Given the description of an element on the screen output the (x, y) to click on. 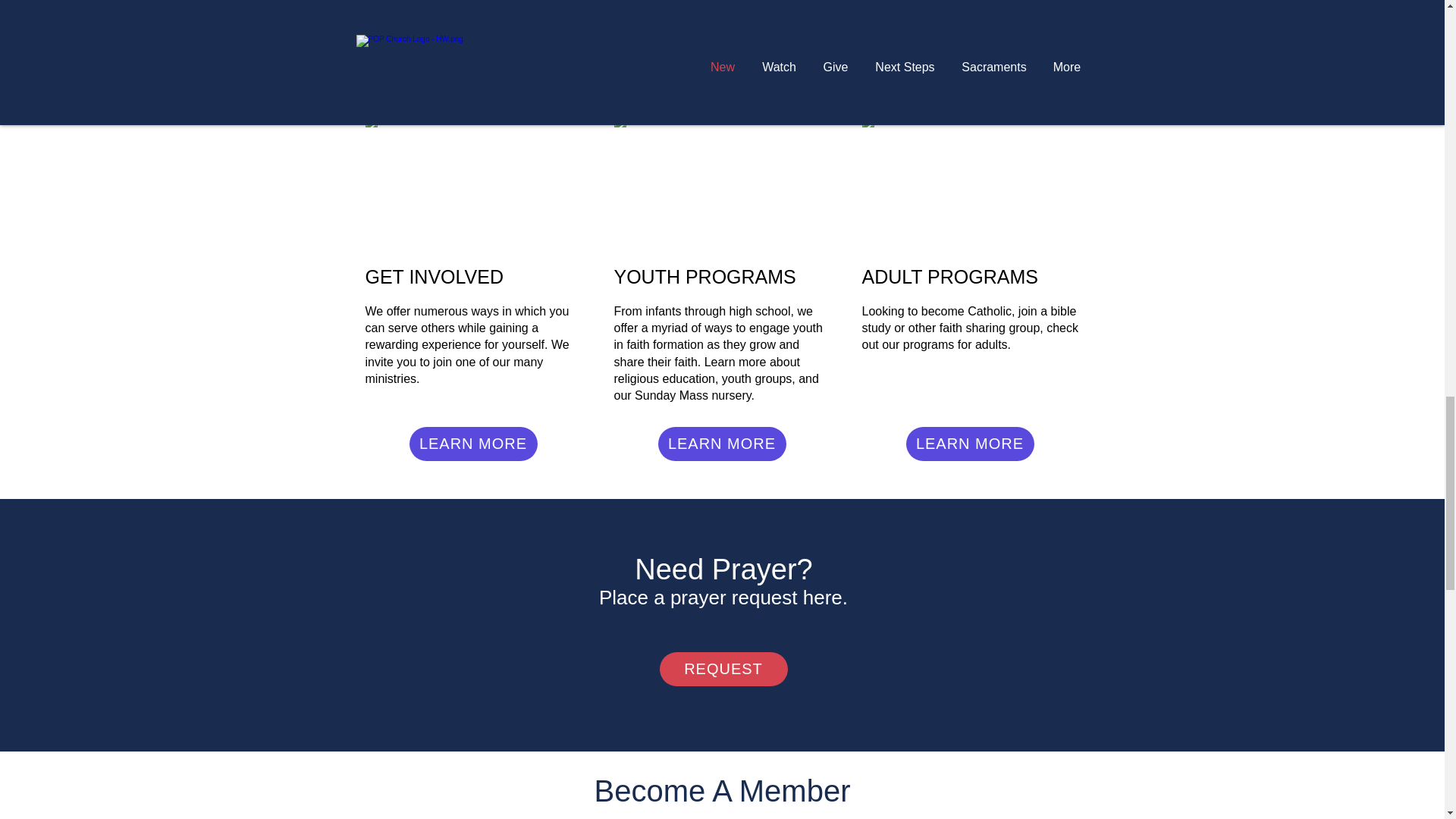
LEARN MORE (722, 443)
LEARN MORE (473, 443)
REQUEST (723, 668)
LEARN MORE (969, 443)
